Given the description of an element on the screen output the (x, y) to click on. 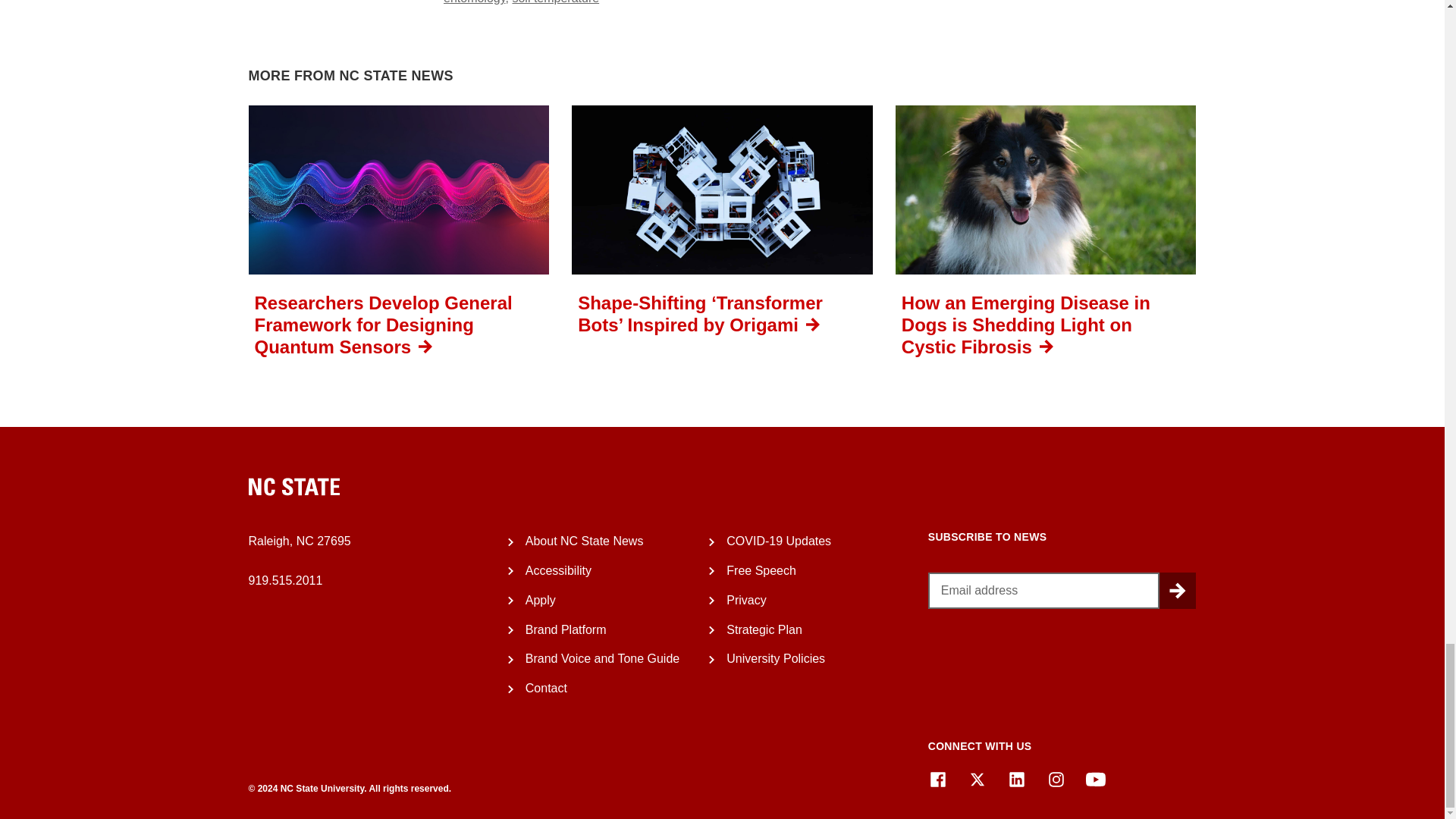
X (977, 779)
YouTube (1095, 779)
Instagram (1055, 779)
LinkedIn (1016, 779)
Facebook (937, 779)
